Given the description of an element on the screen output the (x, y) to click on. 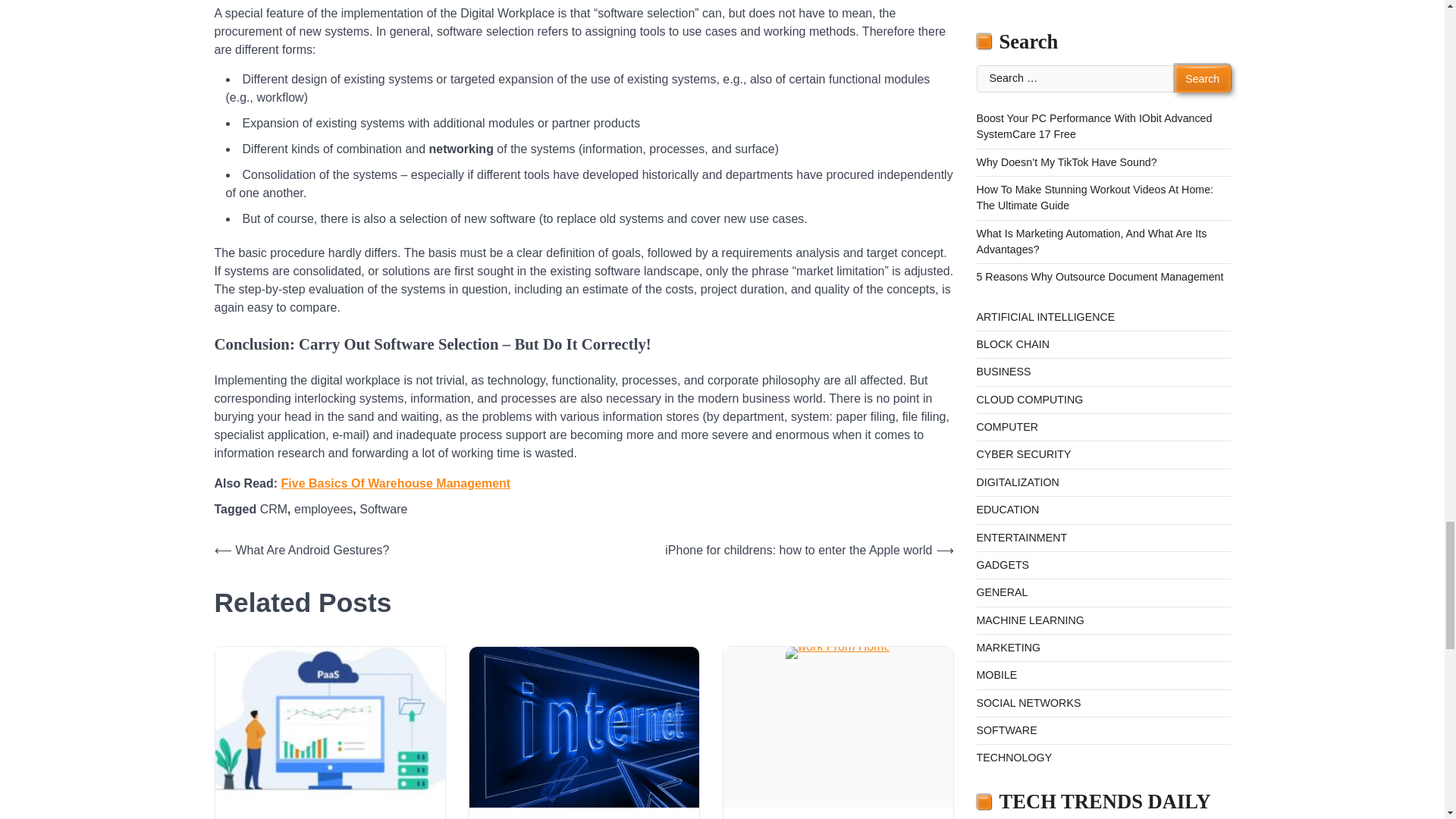
CRM (273, 508)
Five Basics Of Warehouse Management (396, 482)
employees (323, 508)
